Given the description of an element on the screen output the (x, y) to click on. 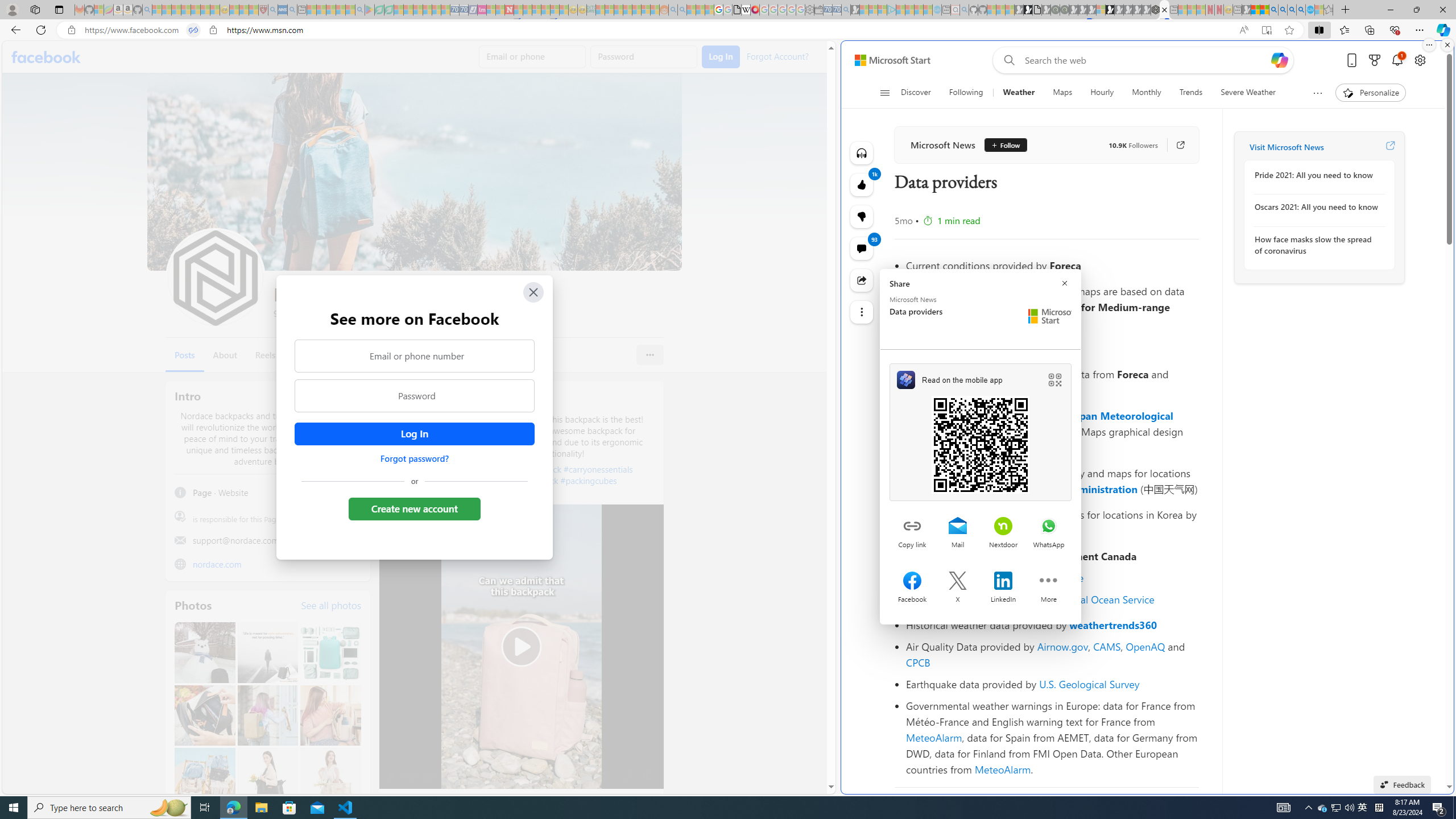
Nordace - Cooler Bags (1154, 9)
Other map data provided by Foreca (1051, 348)
Listen to this article (861, 152)
2009 Bing officially replaced Live Search on June 3 - Search (1283, 9)
